Given the description of an element on the screen output the (x, y) to click on. 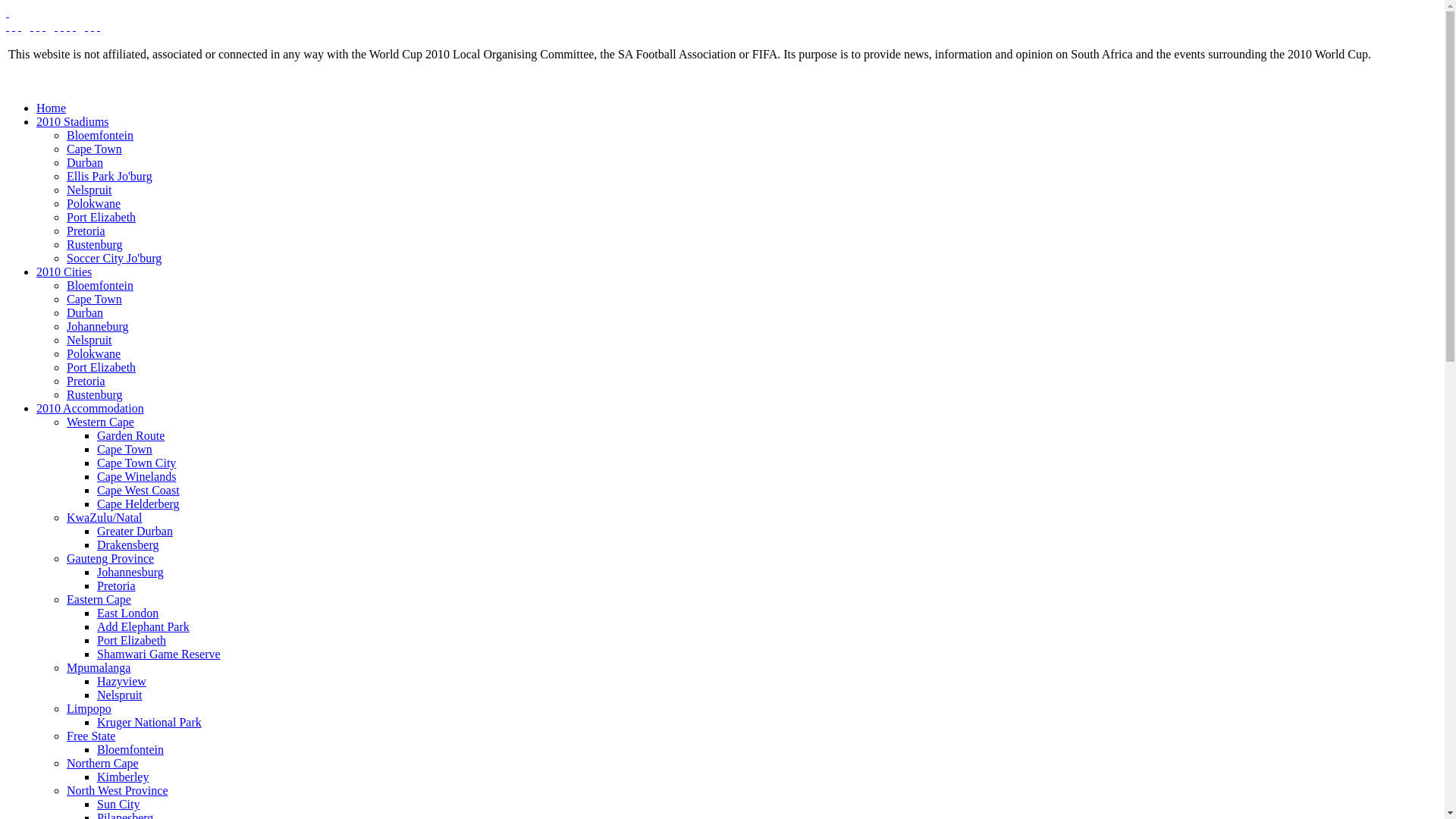
Bloemfontein Element type: text (99, 134)
Kimberley Element type: text (122, 776)
  Element type: text (37, 25)
2010 Stadiums Element type: text (72, 121)
Fluid width Element type: hover (7, 25)
Mpumalanga Element type: text (98, 667)
Decrease size Element type: hover (43, 25)
Blue color Element type: hover (67, 25)
Light contrast Element type: hover (98, 25)
Port Elizabeth Element type: text (100, 216)
  Element type: text (73, 25)
Add Elephant Park Element type: text (143, 626)
  Element type: text (92, 25)
2010 Cities Element type: text (63, 271)
Red color Element type: hover (73, 25)
North West Province Element type: text (117, 790)
Increase size Element type: hover (31, 25)
Polokwane Element type: text (93, 353)
Cape Helderberg Element type: text (138, 503)
Northern Cape Element type: text (102, 762)
Cape Town Element type: text (94, 298)
Bloemfontein Element type: text (99, 285)
Kruger National Park Element type: text (149, 721)
Pretoria Element type: text (85, 230)
  Element type: text (55, 25)
Cape Town Element type: text (94, 148)
  Element type: text (19, 25)
Pretoria Element type: text (116, 585)
Limpopo Element type: text (88, 708)
Nelspruit Element type: text (89, 189)
Western Cape Element type: text (100, 421)
East London Element type: text (127, 612)
Drakensberg Element type: text (127, 544)
Hazyview Element type: text (121, 680)
Orange color Element type: hover (55, 25)
Ellis Park Jo'burg Element type: text (109, 175)
Bloemfontein Element type: text (130, 749)
Cape Town City Element type: text (136, 462)
Dark contrast Element type: hover (85, 25)
Rustenburg Element type: text (94, 394)
Port Elizabeth Element type: text (131, 639)
Pretoria Element type: text (85, 380)
Johanneburg Element type: text (97, 326)
Shamwari Game Reserve Element type: text (158, 653)
Garden Route Element type: text (130, 435)
Narrow width Element type: hover (19, 25)
Cape West Coast Element type: text (138, 489)
Eastern Cape Element type: text (98, 599)
Nelspruit Element type: text (119, 694)
  Element type: text (98, 25)
Default size Element type: hover (37, 25)
2010 Accommodation Element type: text (90, 407)
KwaZulu/Natal Element type: text (104, 517)
Cape Winelands Element type: text (136, 476)
Durban Element type: text (84, 312)
  Element type: text (7, 25)
Free State Element type: text (90, 735)
  Element type: text (43, 25)
  Element type: text (85, 25)
Home Element type: text (50, 107)
Greater Durban Element type: text (134, 530)
Durban Element type: text (84, 162)
Rustenburg Element type: text (94, 244)
Green color Element type: hover (61, 25)
Polokwane Element type: text (93, 203)
Wide width Element type: hover (13, 25)
  Element type: text (13, 25)
  Element type: text (7, 12)
Cape Town Element type: text (124, 448)
Nelspruit Element type: text (89, 339)
Port Elizabeth Element type: text (100, 366)
Sun City Element type: text (118, 803)
Soccer City Jo'burg Element type: text (113, 257)
Medium contrast Element type: hover (92, 25)
Johannesburg Element type: text (130, 571)
  Element type: text (61, 25)
  Element type: text (67, 25)
Gauteng Province Element type: text (109, 558)
  Element type: text (31, 25)
